Given the description of an element on the screen output the (x, y) to click on. 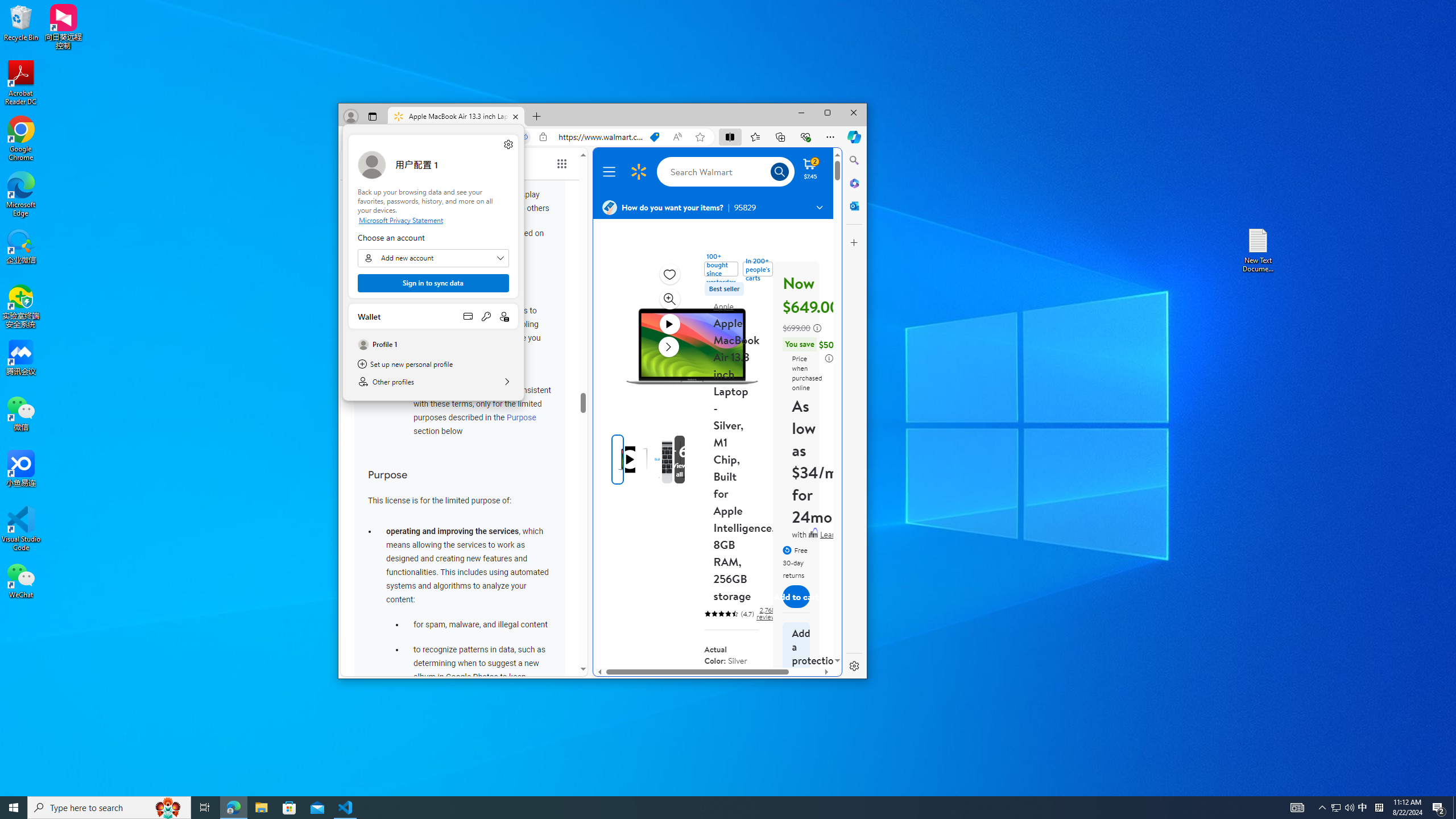
Tray Input Indicator - Chinese (Simplified, China) (1378, 807)
Class: absolute pointer (629, 459)
Close Outlook pane (854, 205)
File Explorer (261, 807)
selected, Silver, $649.00 (744, 692)
legal information (829, 357)
Other profiles (432, 381)
Action Center, 2 new notifications (1439, 807)
Maximize (826, 112)
Profile 1 (432, 344)
